Given the description of an element on the screen output the (x, y) to click on. 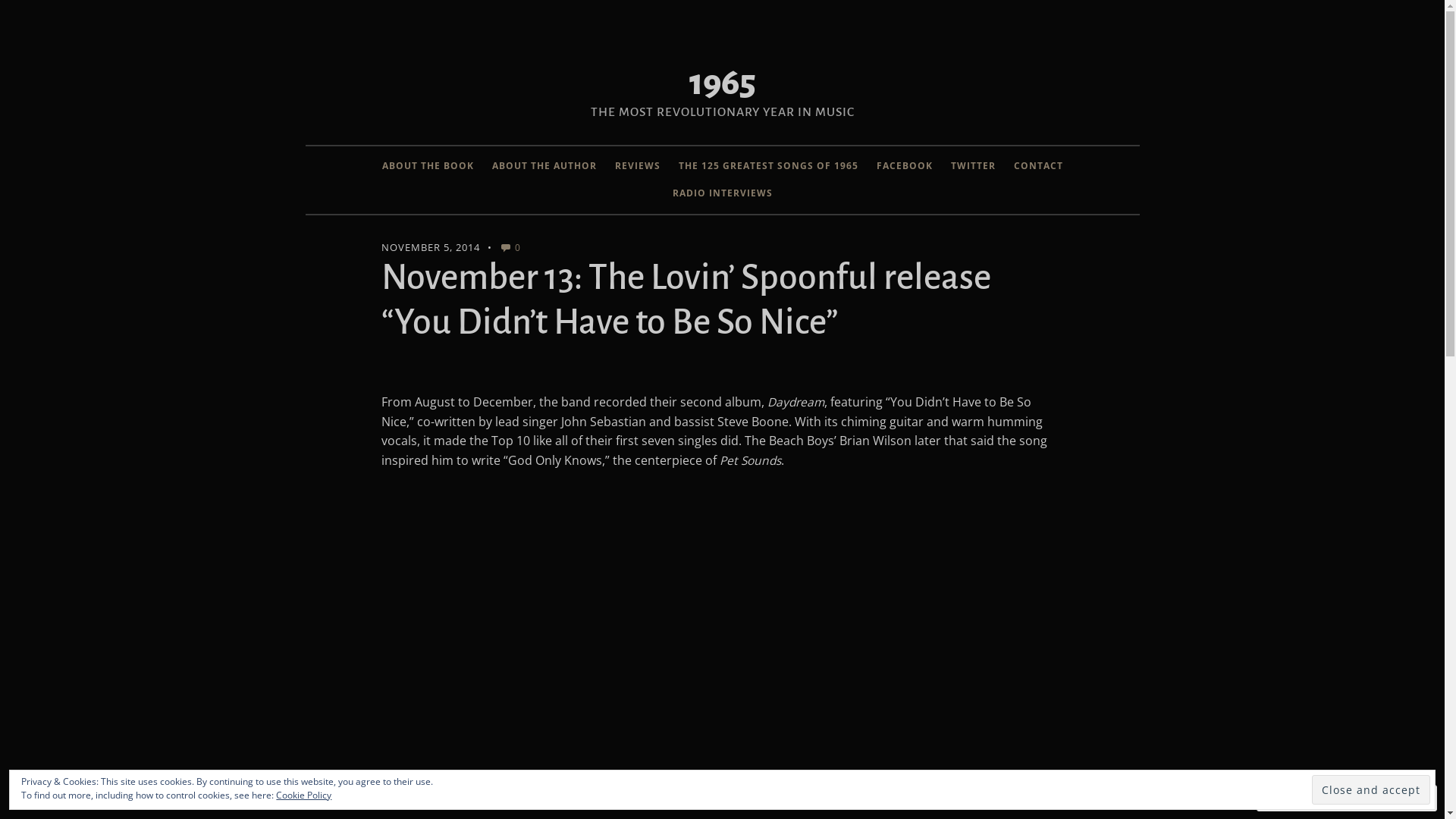
Follow Element type: text (1373, 797)
CONTACT Element type: text (1037, 165)
Comment Element type: text (1297, 797)
Close and accept Element type: text (1370, 789)
1965 Element type: text (721, 82)
TWITTER Element type: text (973, 165)
REVIEWS Element type: text (636, 165)
0 Element type: text (509, 247)
RADIO INTERVIEWS Element type: text (721, 193)
Cookie Policy Element type: text (303, 794)
ABOUT THE AUTHOR Element type: text (543, 165)
FACEBOOK Element type: text (904, 165)
ABOUT THE BOOK Element type: text (427, 165)
THE 125 GREATEST SONGS OF 1965 Element type: text (767, 165)
